Given the description of an element on the screen output the (x, y) to click on. 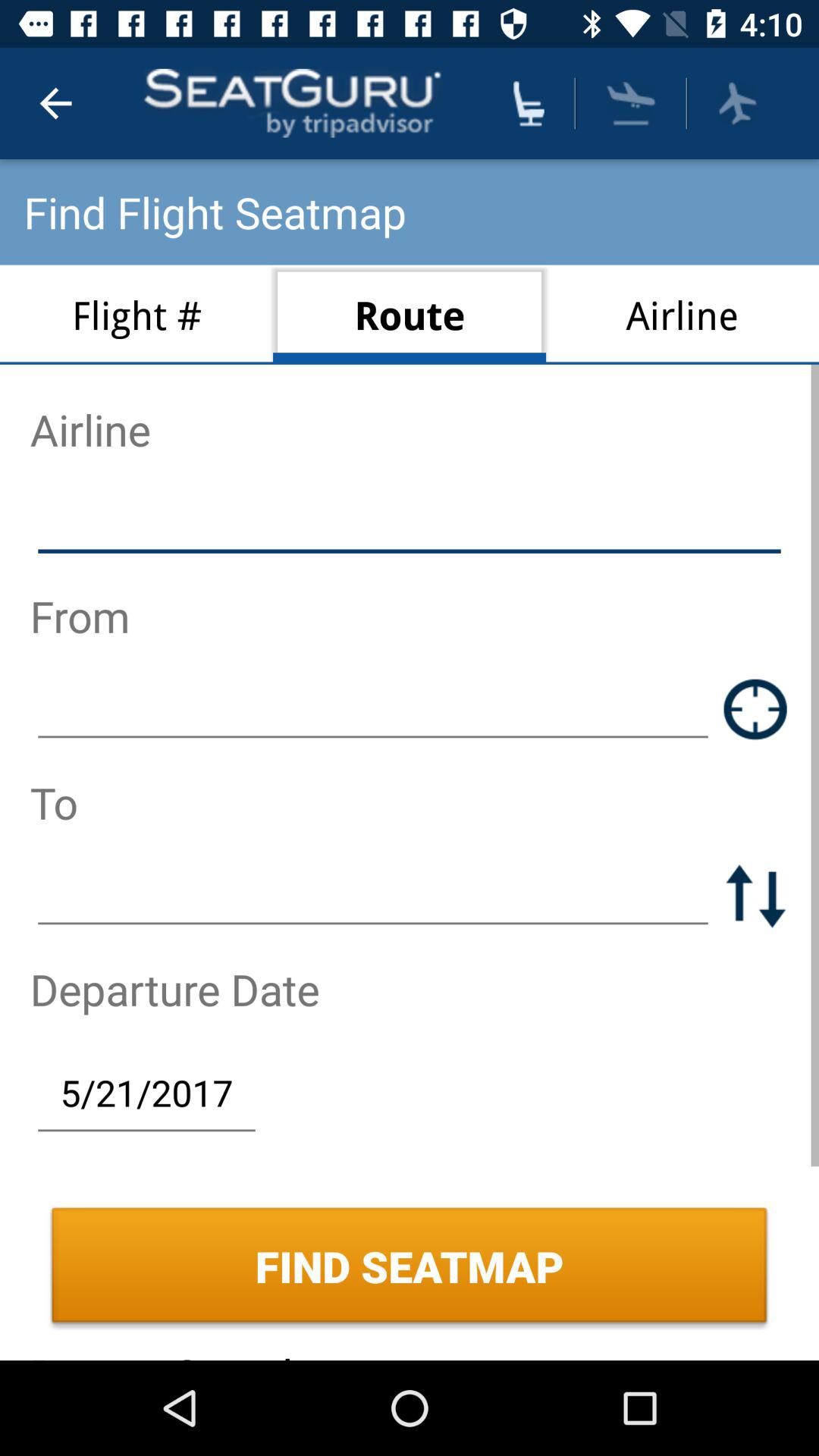
seats (528, 103)
